Given the description of an element on the screen output the (x, y) to click on. 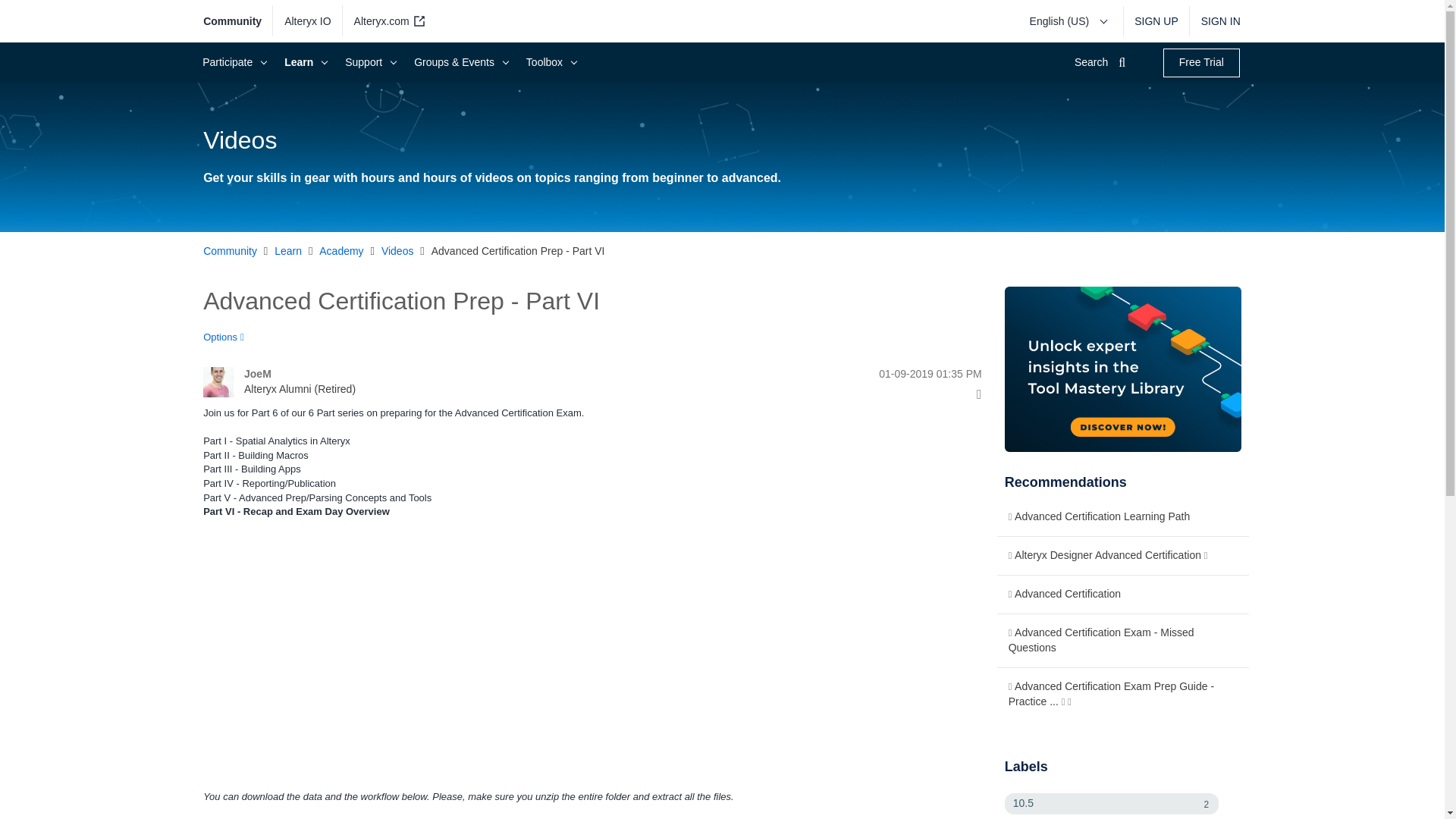
Learn (303, 62)
alteryx.com (386, 20)
Participate (232, 62)
SIGN UP (1155, 21)
JoeM (217, 381)
Show option menu (228, 337)
SIGN IN (1215, 21)
Community (238, 21)
Posted on (862, 374)
YouTube video player (415, 652)
Alteryx IO (307, 21)
